Given the description of an element on the screen output the (x, y) to click on. 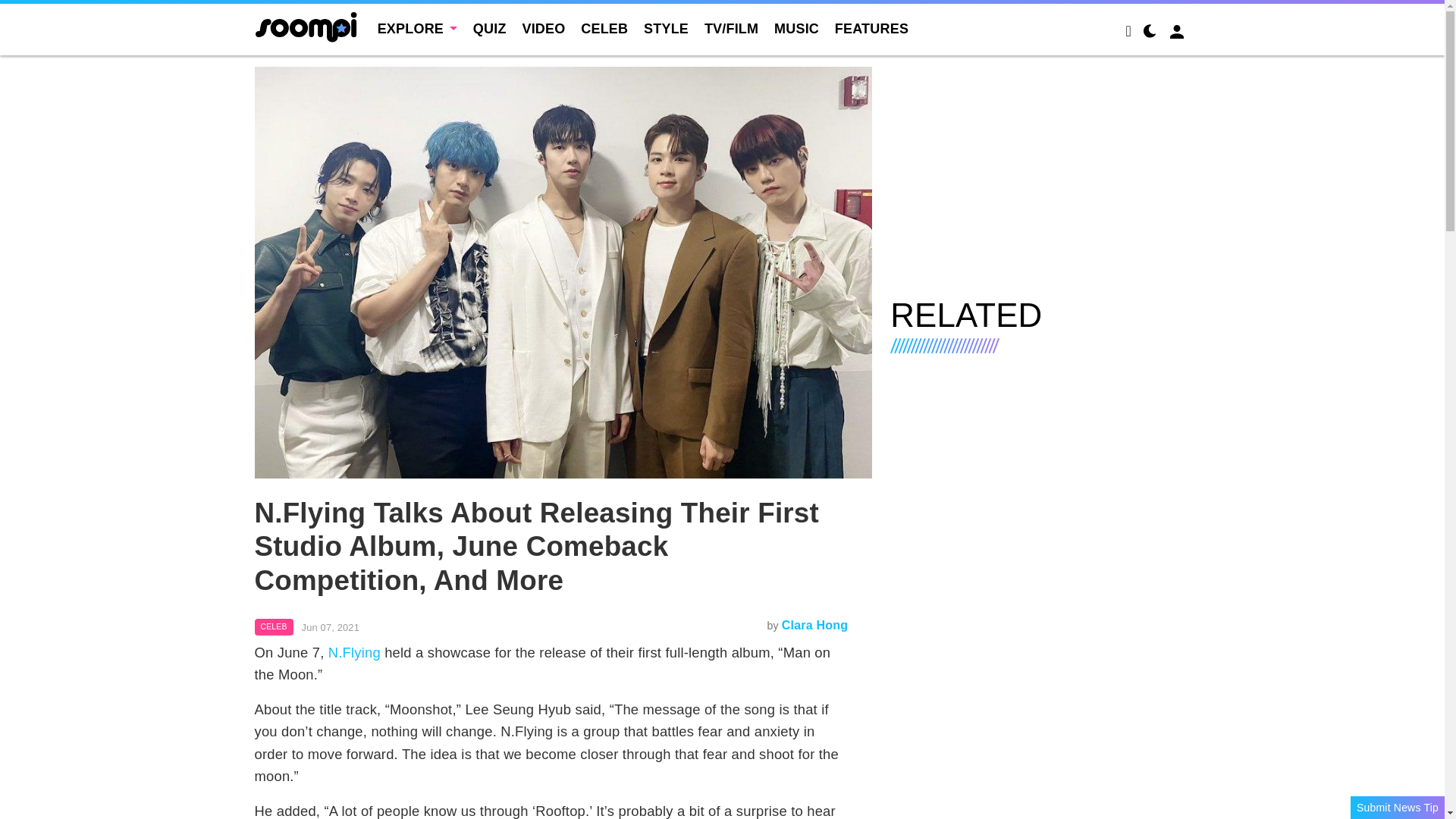
CELEB (274, 627)
N.Flying (354, 652)
EXPLORE (417, 28)
QUIZ (489, 28)
Celeb (274, 627)
Clara Hong (814, 625)
VIDEO (542, 28)
FEATURES (871, 28)
Articles by Clara Hong (814, 625)
STYLE (665, 28)
Night Mode Toggle (1149, 33)
CELEB (603, 28)
MUSIC (796, 28)
